Given the description of an element on the screen output the (x, y) to click on. 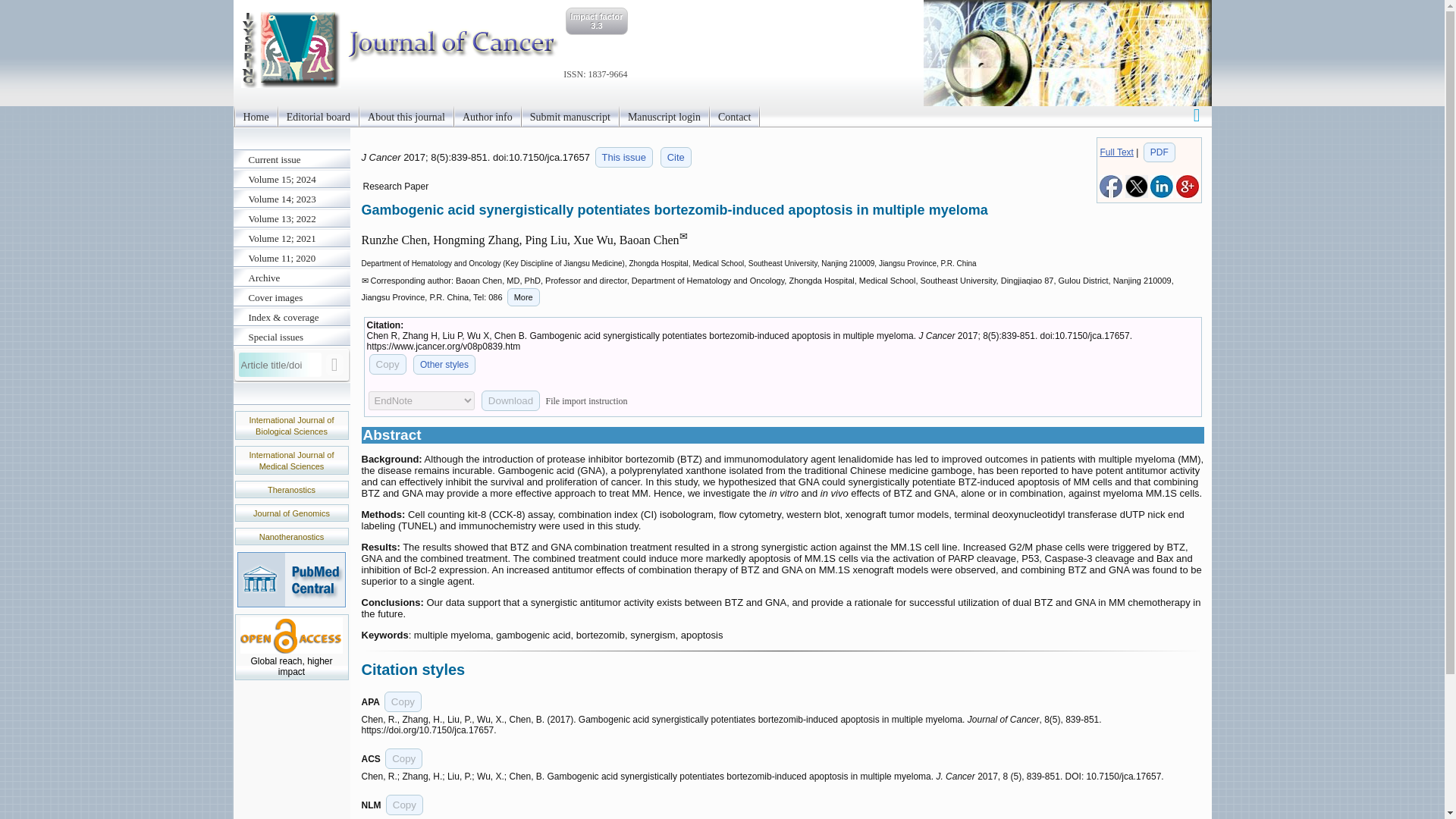
Copy to clipboard (387, 363)
Current issue (291, 159)
Home (255, 117)
Copy (387, 363)
Volume 11; 2020 (291, 258)
Volume 13; 2022 (291, 219)
Share on facebook (1110, 194)
This issue (624, 157)
Author info (486, 117)
Other styles (444, 364)
Share on linkedin (1161, 194)
Copy to clipboard (404, 804)
Cite (676, 157)
International Journal of Biological Sciences (291, 425)
Cover images (291, 297)
